Given the description of an element on the screen output the (x, y) to click on. 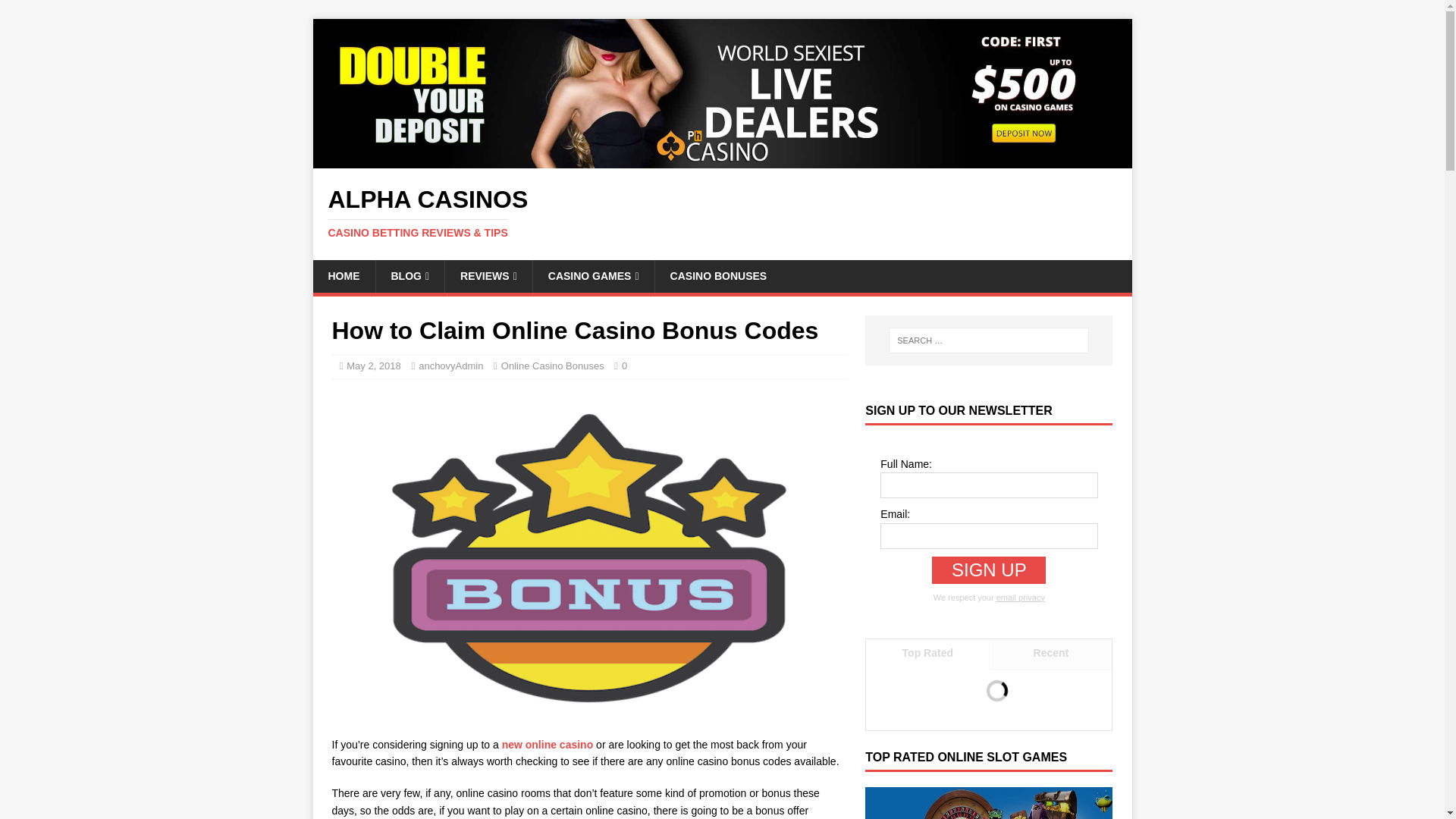
BLOG (409, 275)
anchovyAdmin (451, 365)
Sign Up (988, 569)
Privacy Policy (1020, 596)
CASINO GAMES (592, 275)
Alpha Casinos (722, 159)
Online Casino Bonuses (552, 365)
HOME (343, 275)
Alpha Casinos (721, 213)
REVIEWS (488, 275)
May 2, 2018 (373, 365)
new online casino (545, 744)
CASINO BONUSES (718, 275)
Search (56, 11)
